Given the description of an element on the screen output the (x, y) to click on. 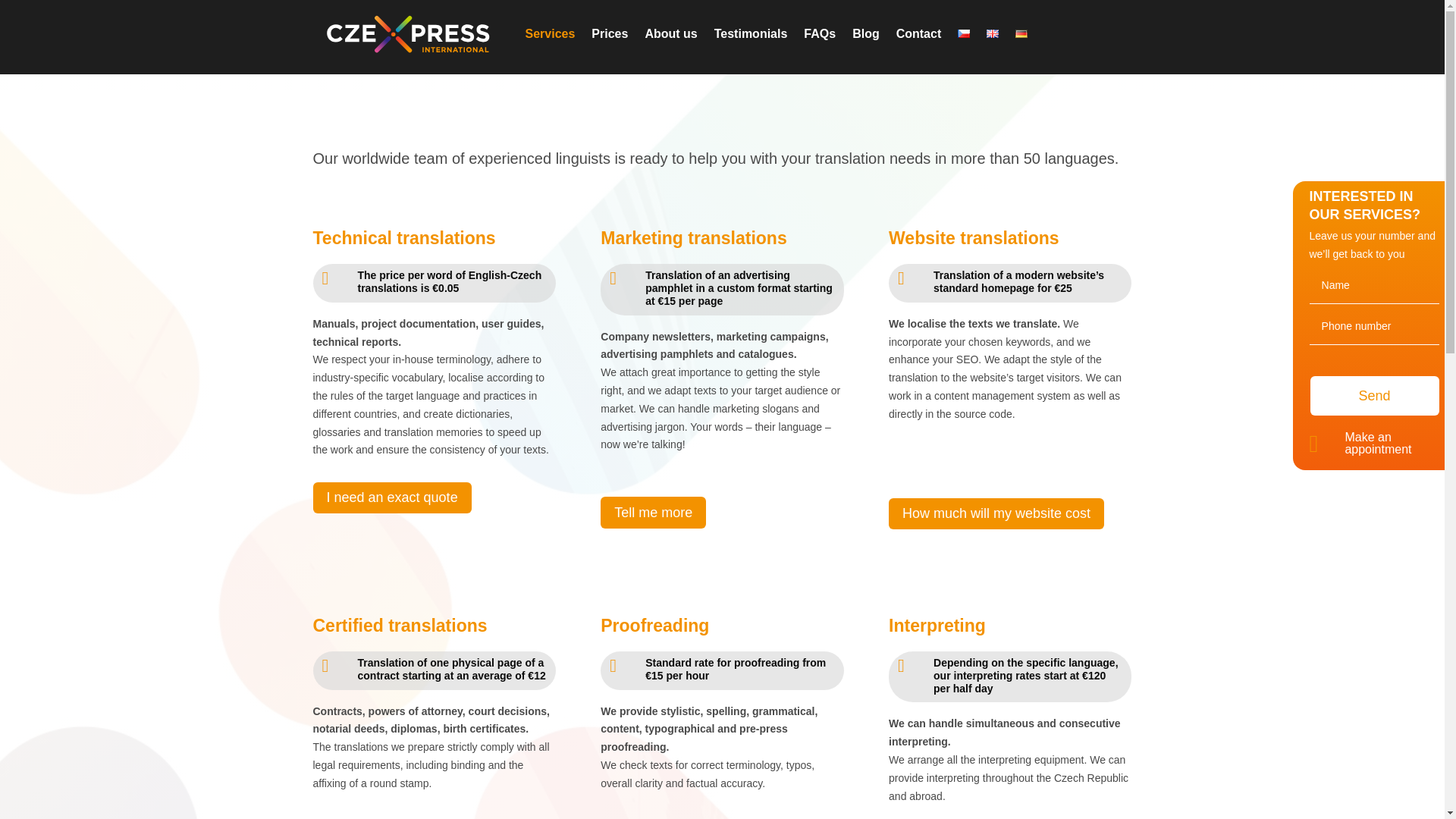
Testimonials (750, 34)
Tell me more (652, 511)
Only numbers allowed. (1373, 325)
Make an appointment (1376, 442)
How much will my website cost (995, 513)
Send (1374, 395)
I need an exact quote (391, 497)
